Given the description of an element on the screen output the (x, y) to click on. 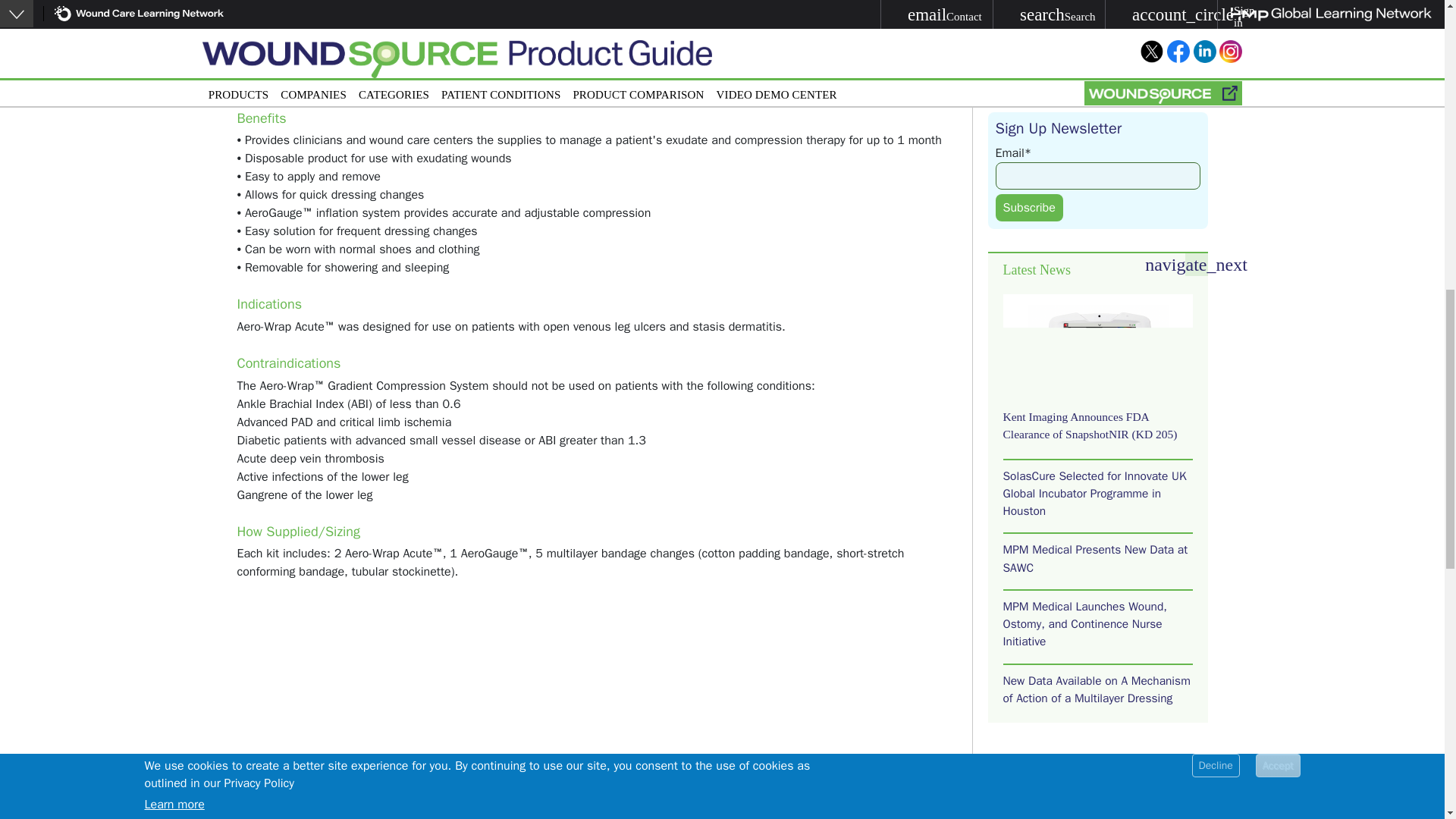
Product Features (356, 74)
Details (446, 74)
www.sun-scientific.com (594, 18)
Overview (263, 74)
Subscribe (1028, 207)
